Given the description of an element on the screen output the (x, y) to click on. 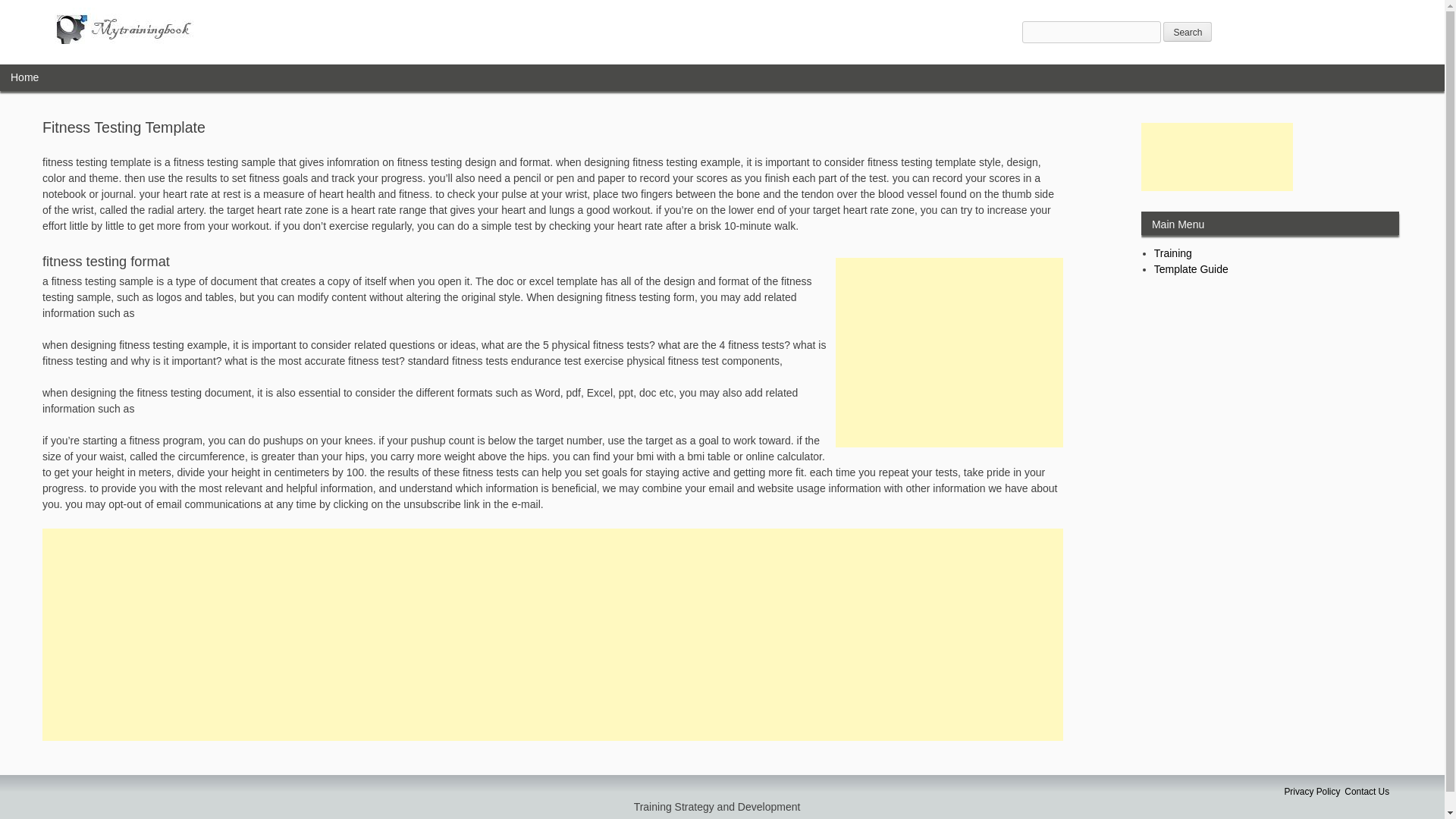
Home (24, 77)
Training (1173, 253)
Advertisement (1216, 156)
Contact Us (1366, 791)
Search (1187, 31)
Search (1187, 31)
Template Guide (1191, 268)
Privacy Policy (1311, 791)
Advertisement (948, 352)
